Given the description of an element on the screen output the (x, y) to click on. 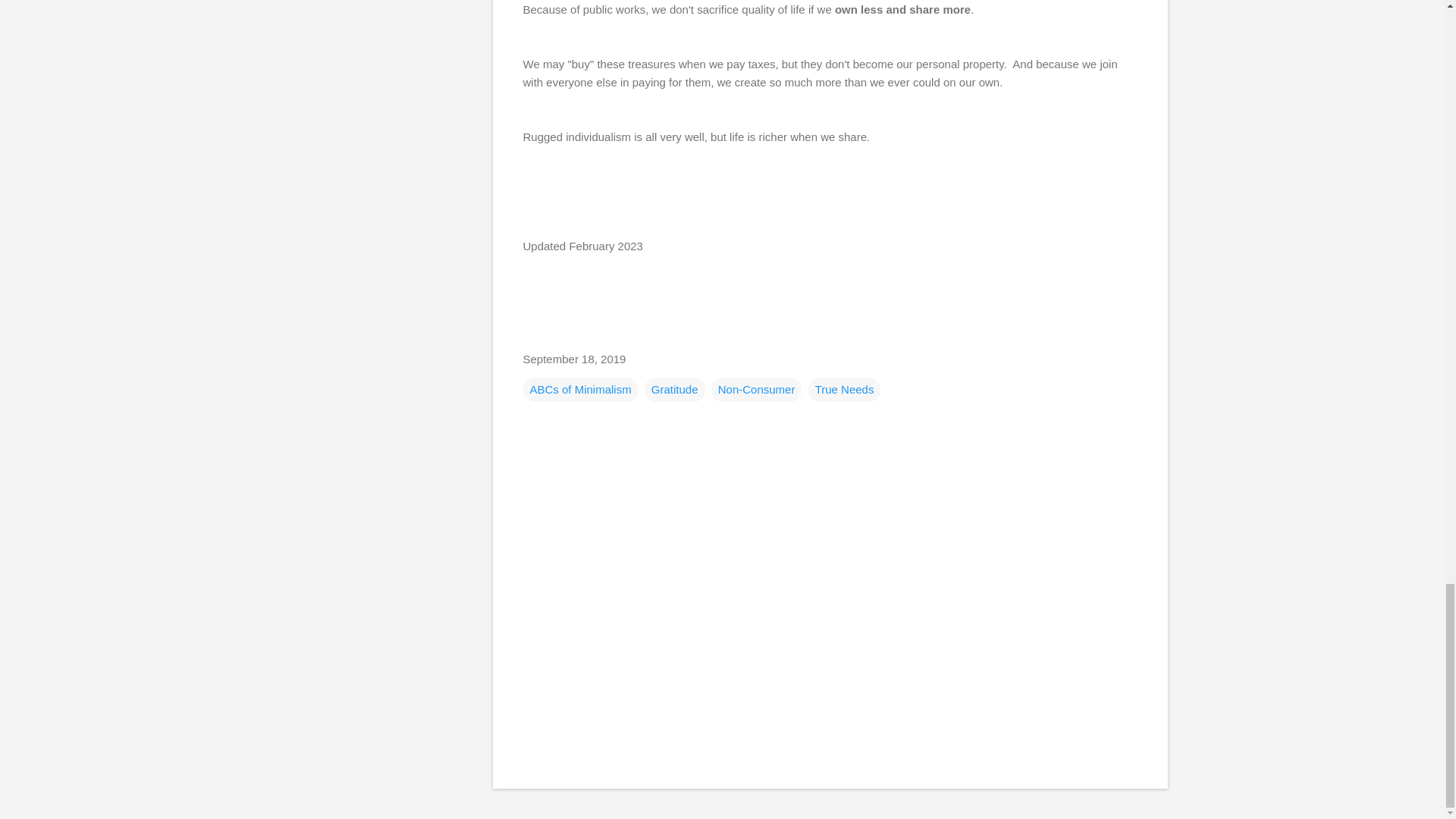
True Needs (844, 389)
Gratitude (674, 389)
September 18, 2019 (574, 358)
ABCs of Minimalism (580, 389)
Email Post (531, 333)
permanent link (574, 358)
Non-Consumer (756, 389)
